Given the description of an element on the screen output the (x, y) to click on. 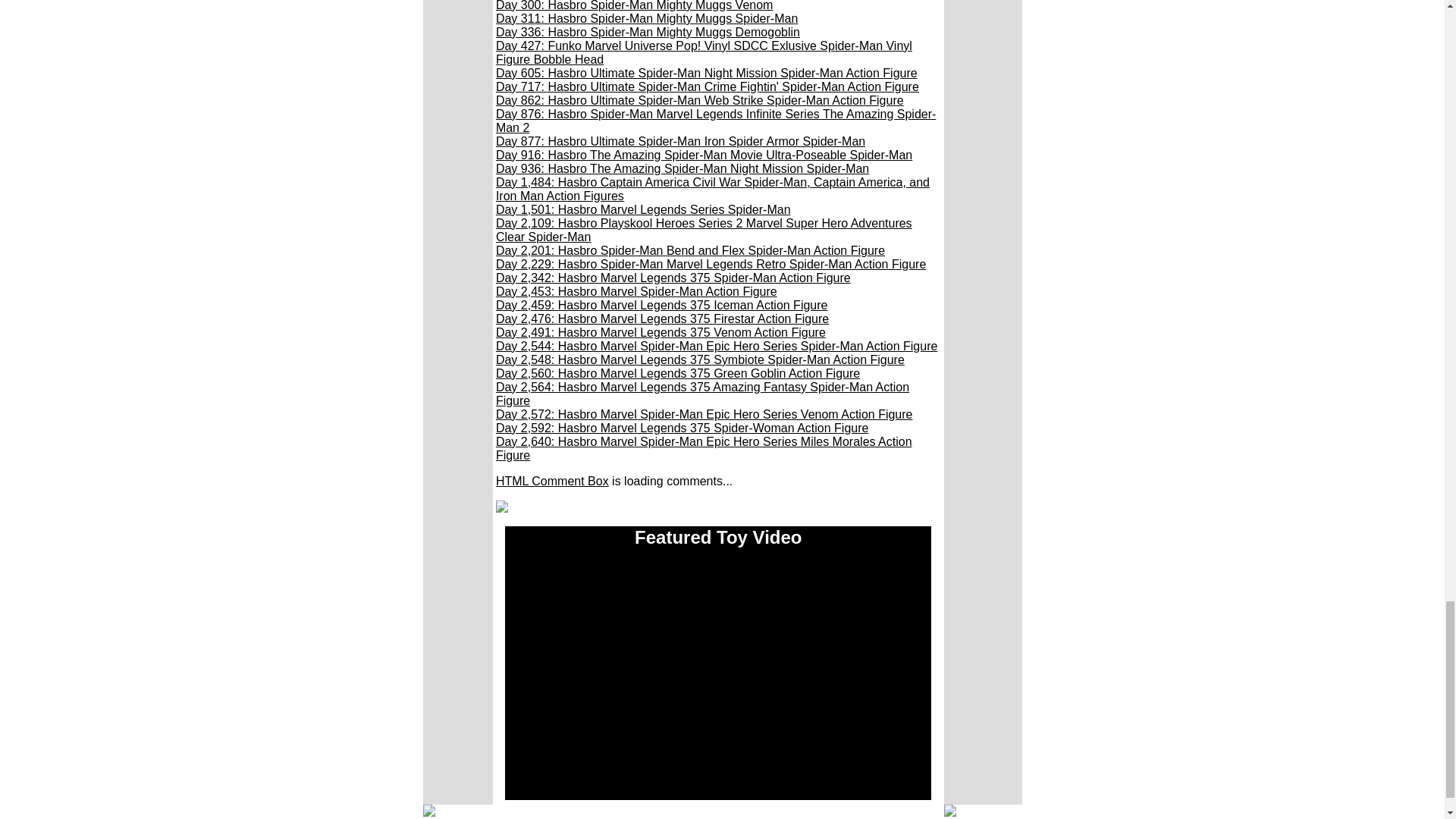
YouTube video player (717, 679)
